Given the description of an element on the screen output the (x, y) to click on. 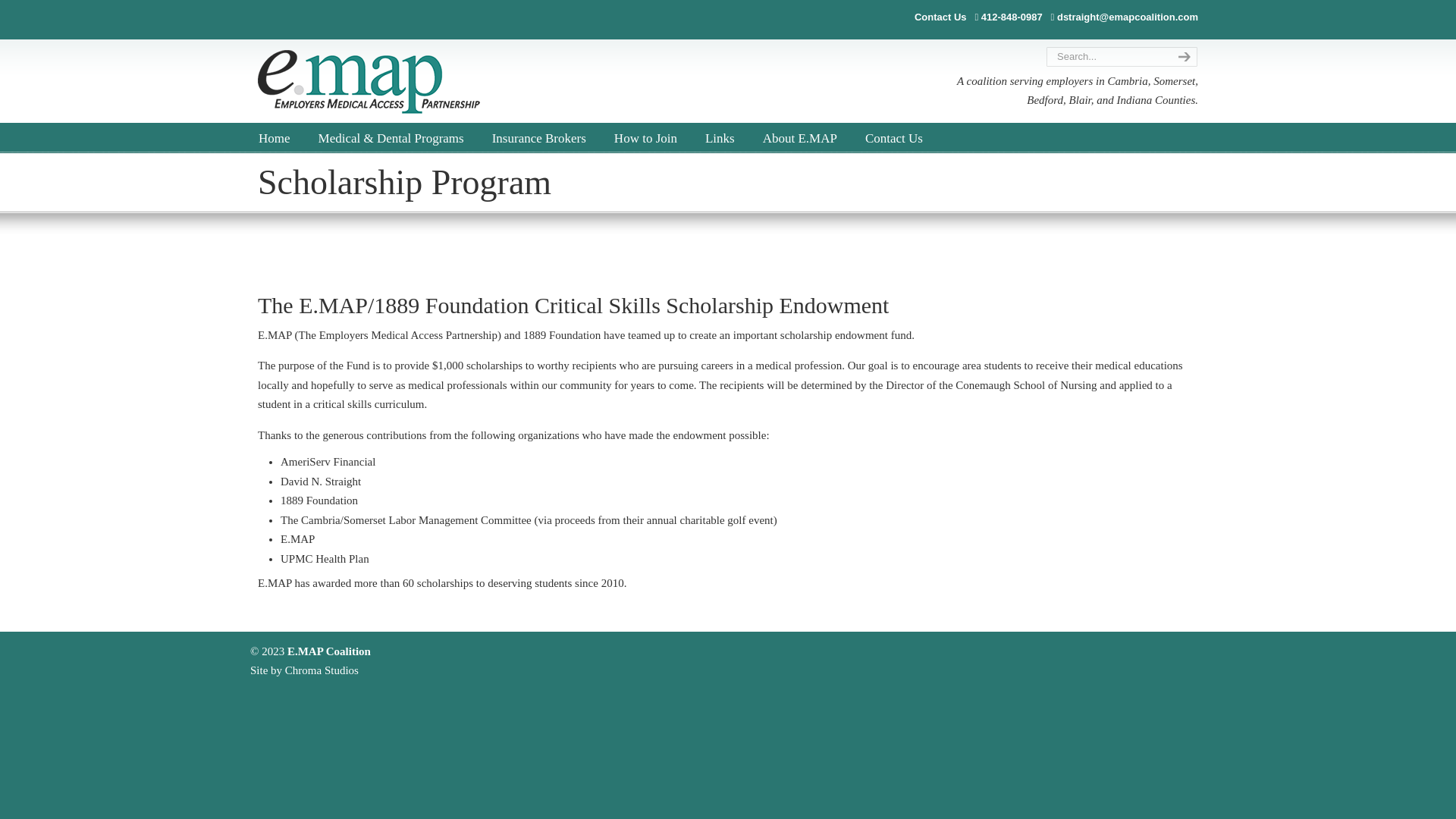
search (1181, 56)
About E.MAP (799, 138)
search (1181, 56)
412-848-0987 (1011, 16)
search (1181, 56)
Home (274, 138)
EMAP (368, 81)
Search... (1106, 56)
How to Join (645, 138)
Contact Us (893, 138)
